Given the description of an element on the screen output the (x, y) to click on. 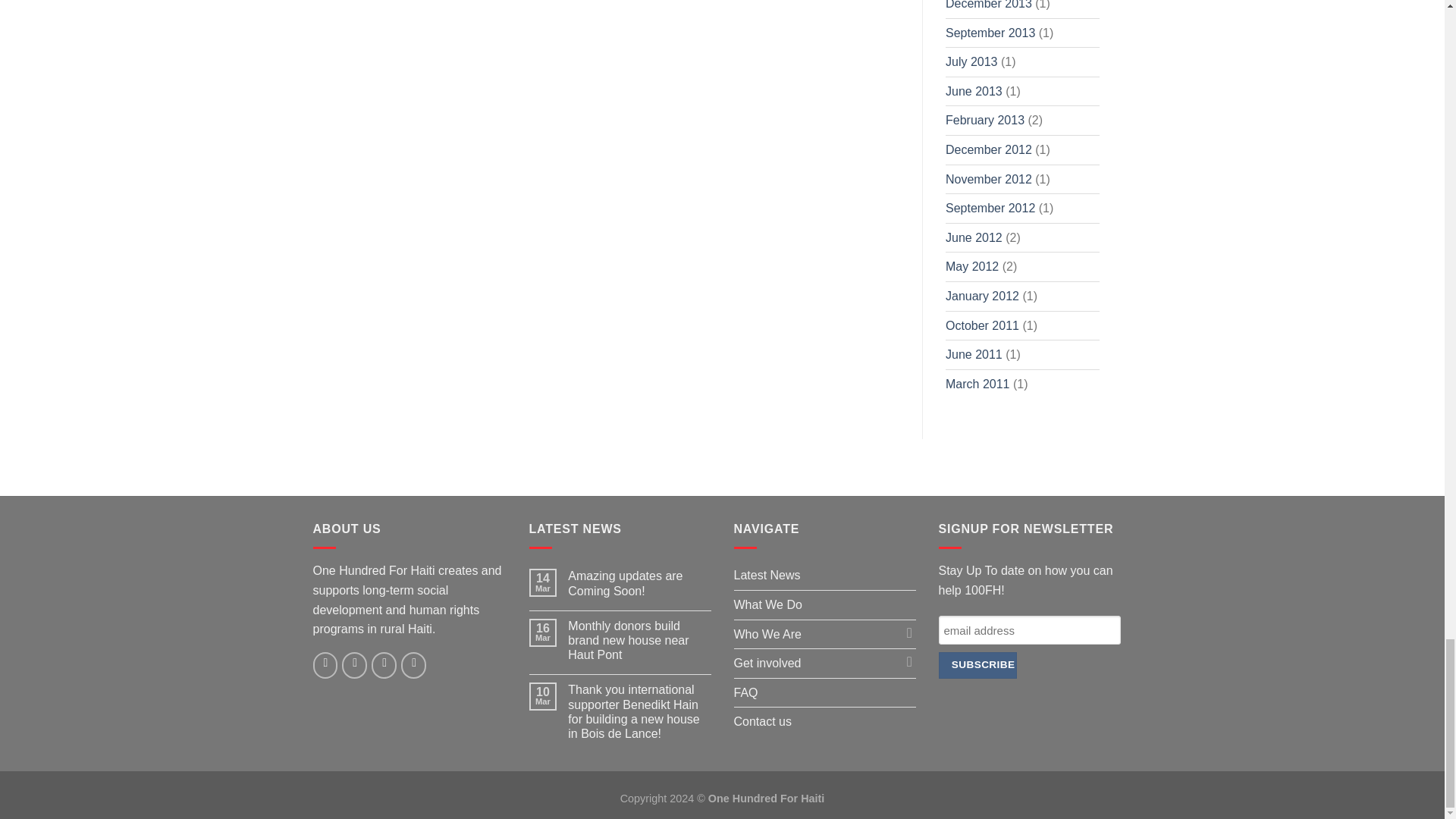
Subscribe (977, 664)
Monthly donors build brand new house near Haut Pont (638, 640)
Amazing updates are Coming Soon! (638, 582)
